Given the description of an element on the screen output the (x, y) to click on. 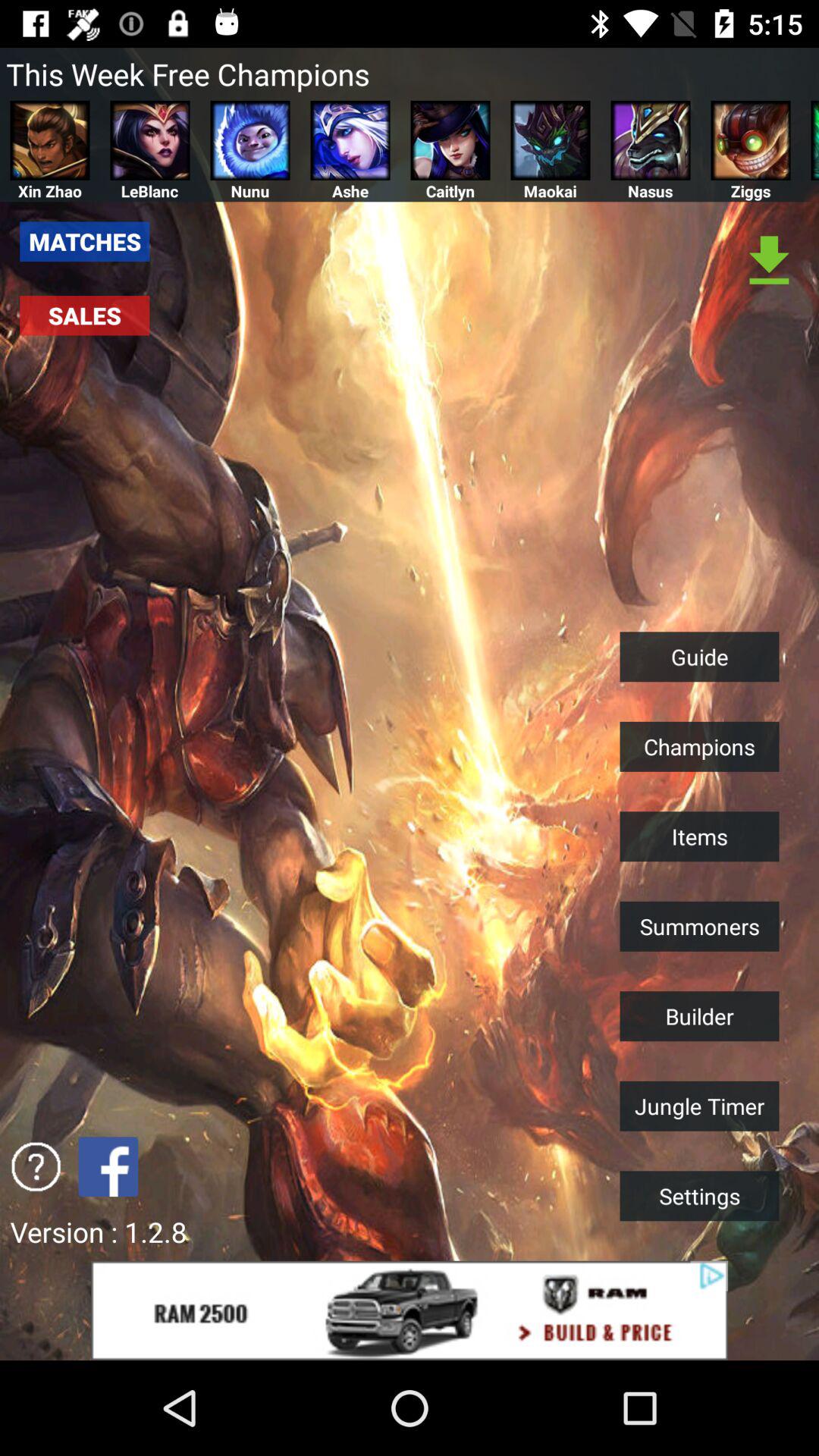
go to download (769, 261)
